Given the description of an element on the screen output the (x, y) to click on. 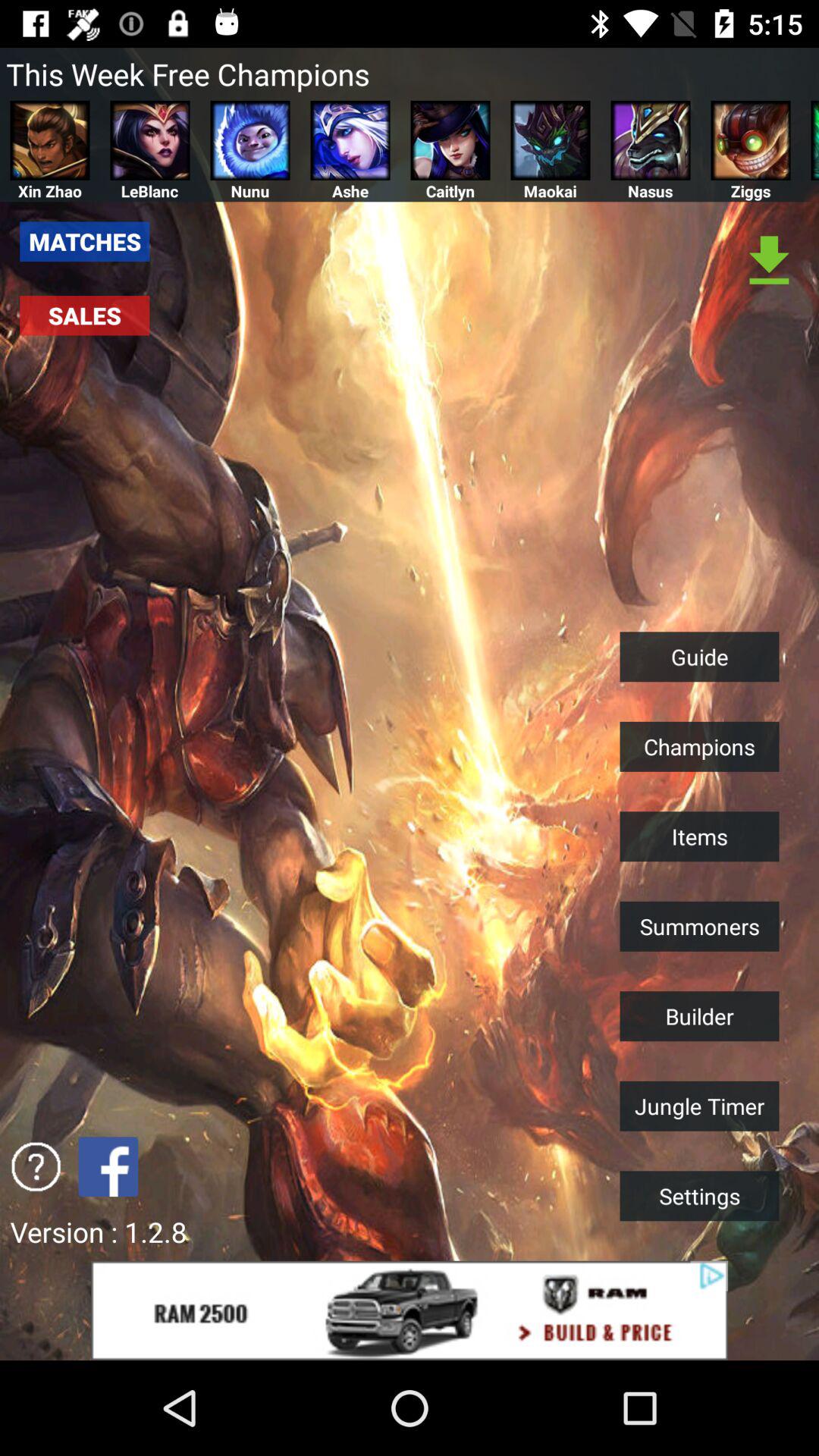
go to download (769, 261)
